Given the description of an element on the screen output the (x, y) to click on. 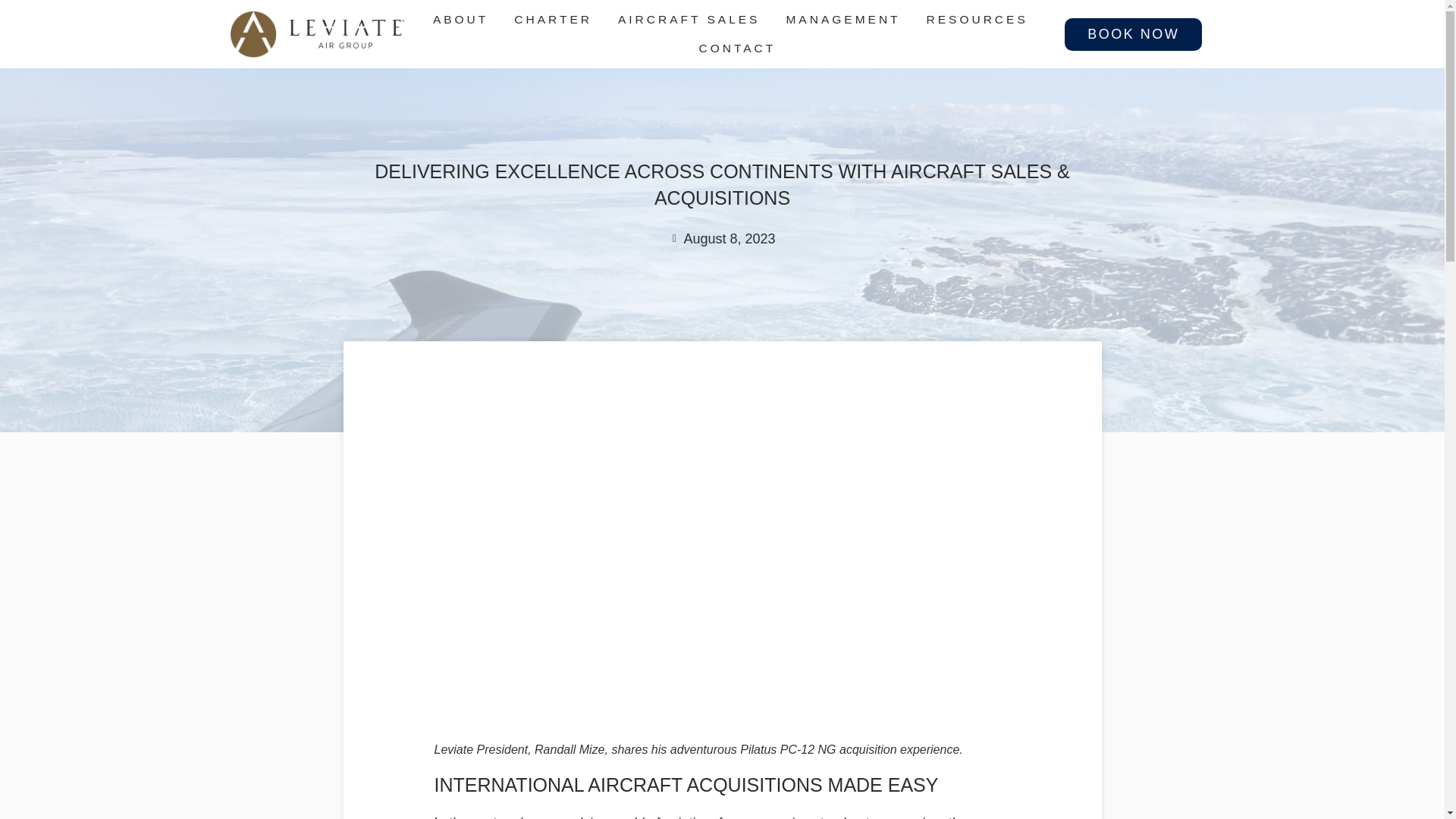
CONTACT (737, 48)
CHARTER (556, 19)
MANAGEMENT (846, 19)
ABOUT (463, 19)
RESOURCES (980, 19)
AIRCRAFT SALES (692, 19)
